Given the description of an element on the screen output the (x, y) to click on. 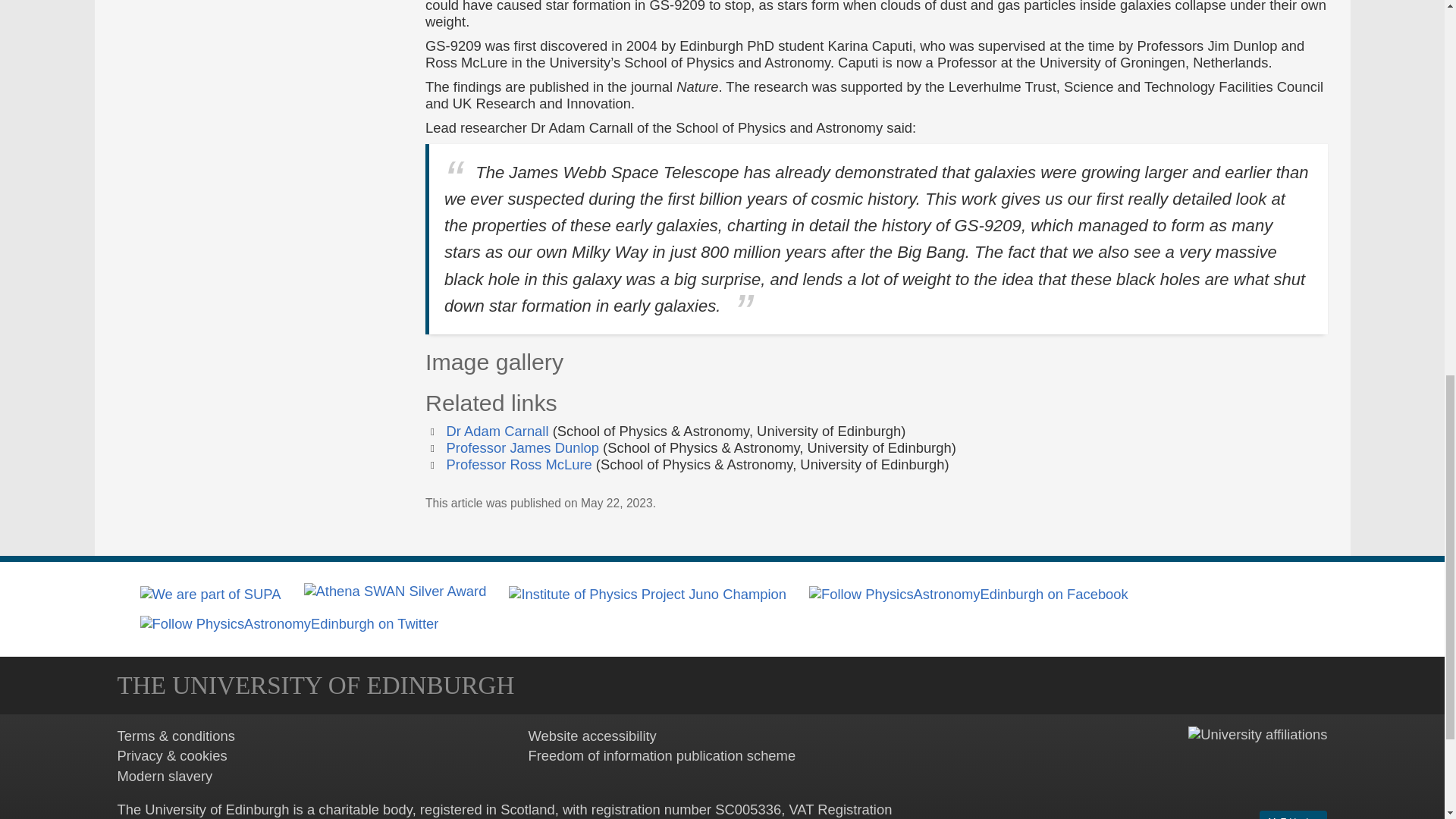
Website accessibility (591, 735)
Professor Ross McLure (519, 464)
Dr Adam Carnall (497, 430)
Modern slavery (164, 775)
Professor James Dunlop (522, 447)
MyEd login (1292, 814)
Freedom of information publication scheme (660, 755)
